Given the description of an element on the screen output the (x, y) to click on. 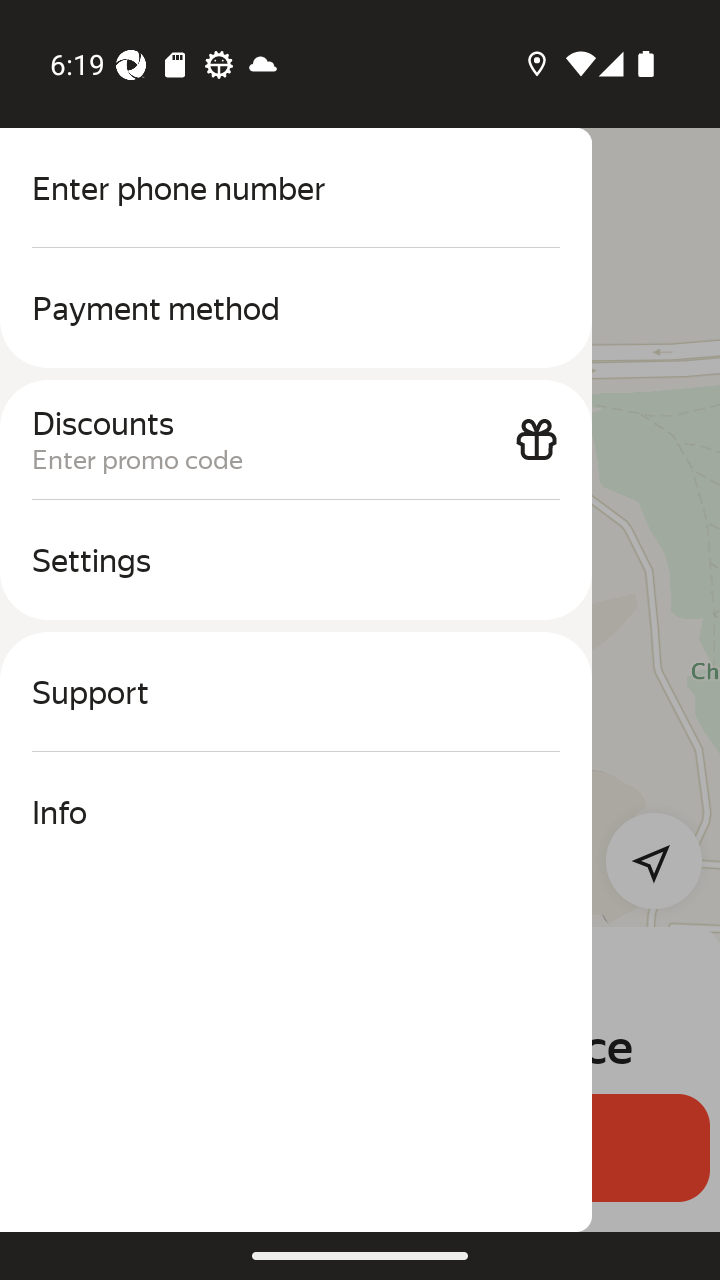
Enter phone number (295, 188)
Payment method (295, 308)
Settings (295, 559)
Support (295, 692)
Info (295, 811)
